Given the description of an element on the screen output the (x, y) to click on. 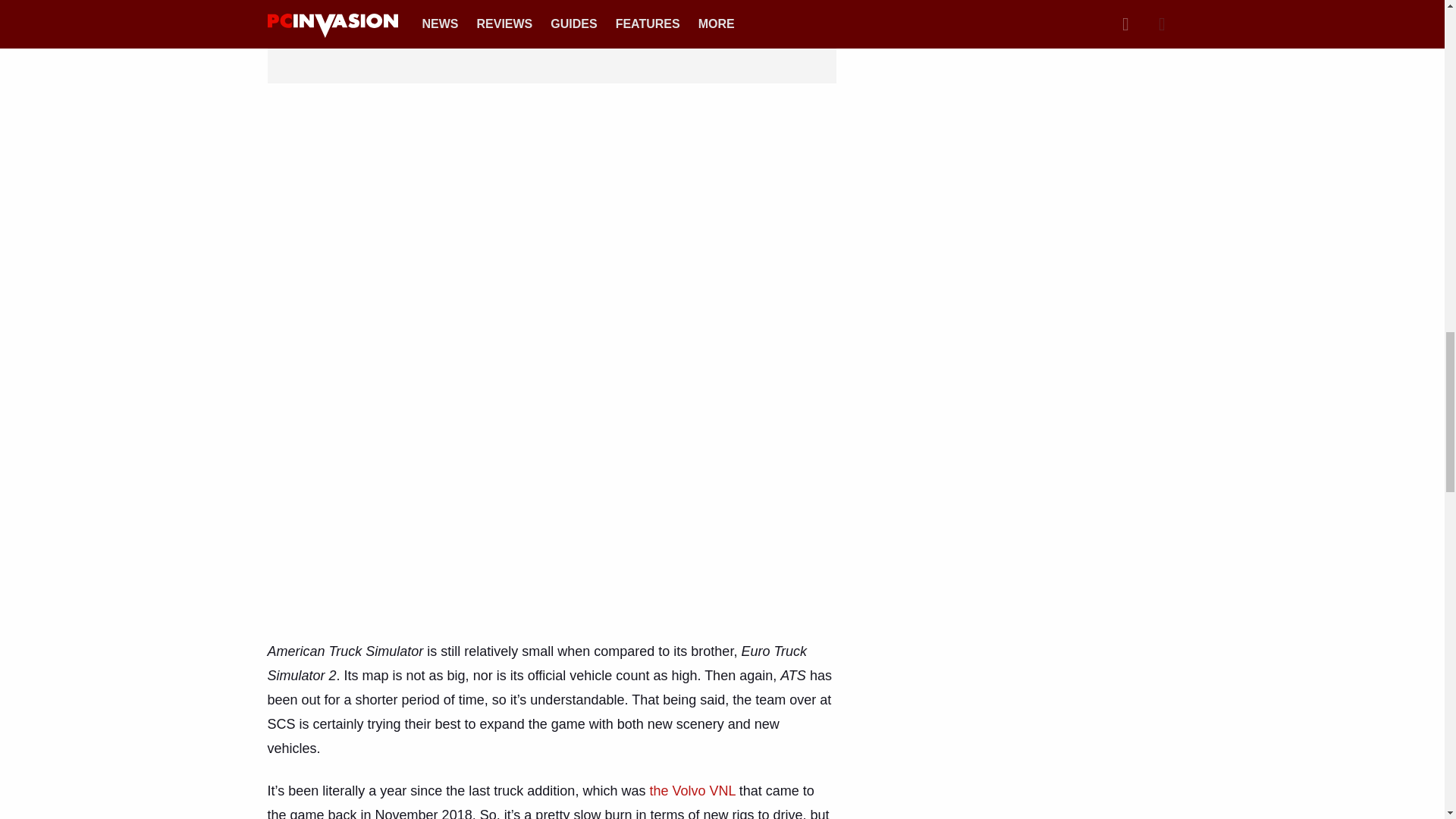
the Volvo VNL (692, 790)
